Given the description of an element on the screen output the (x, y) to click on. 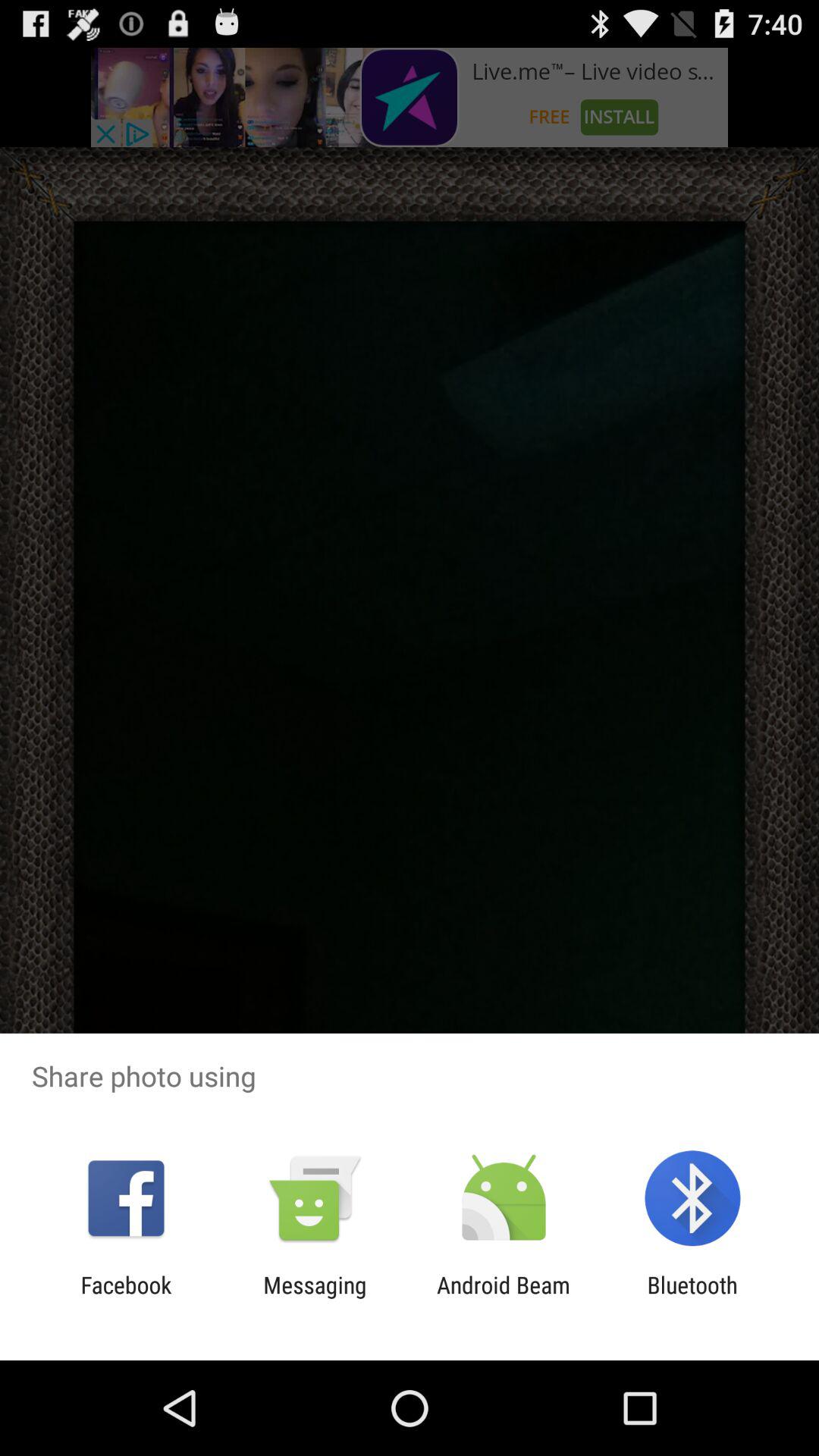
flip to android beam app (503, 1298)
